Given the description of an element on the screen output the (x, y) to click on. 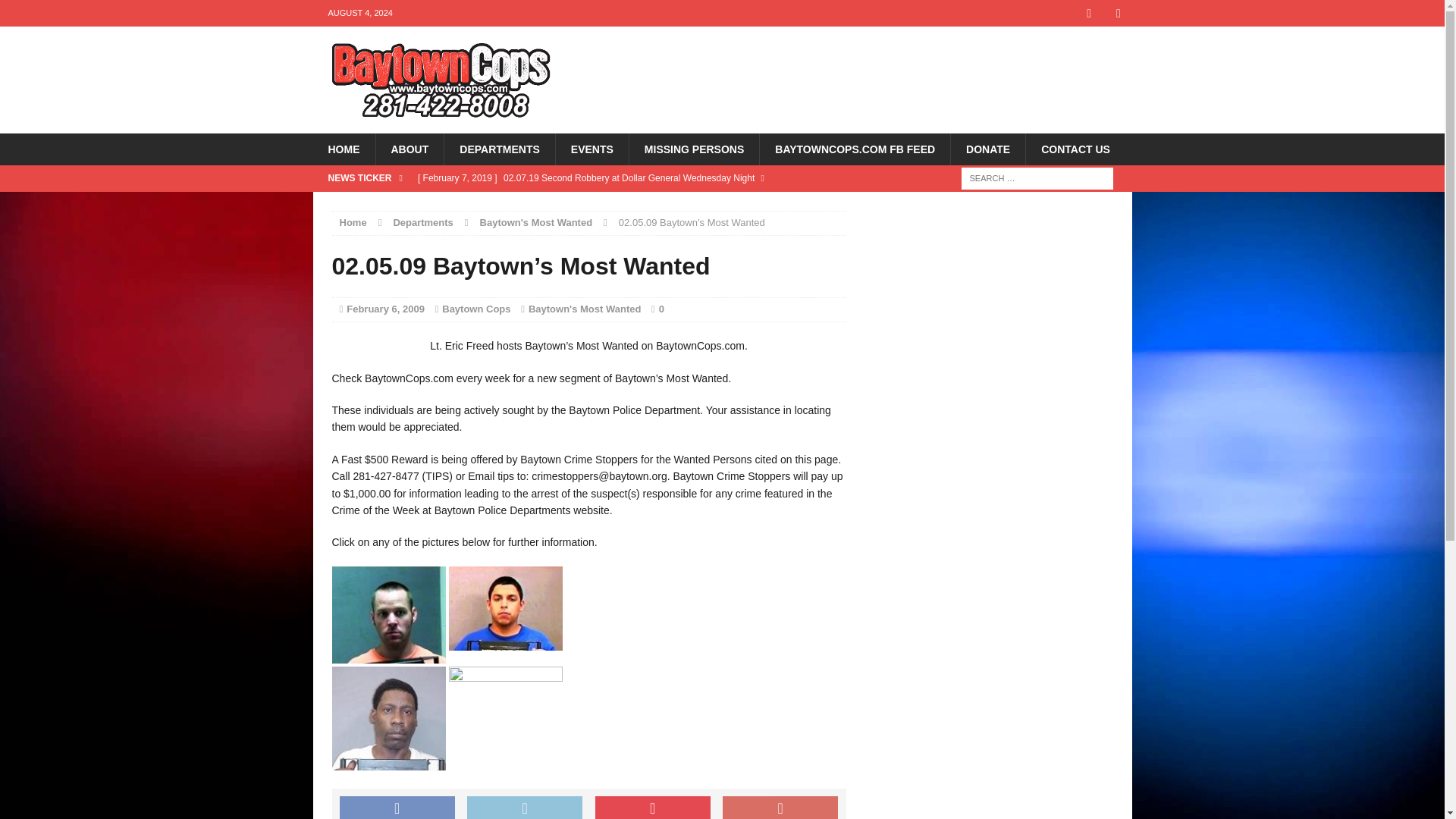
CONTACT US (1075, 149)
BAYTOWNCOPS.COM FB FEED (854, 149)
DONATE (987, 149)
HOME (343, 149)
Tweet This Post (524, 807)
ABOUT (409, 149)
EVENTS (591, 149)
02.07.19  Second Robbery at Dollar General Wednesday Night (627, 191)
Share on Facebook (396, 807)
MISSING PERSONS (693, 149)
Pin This Post (652, 807)
DEPARTMENTS (499, 149)
